Given the description of an element on the screen output the (x, y) to click on. 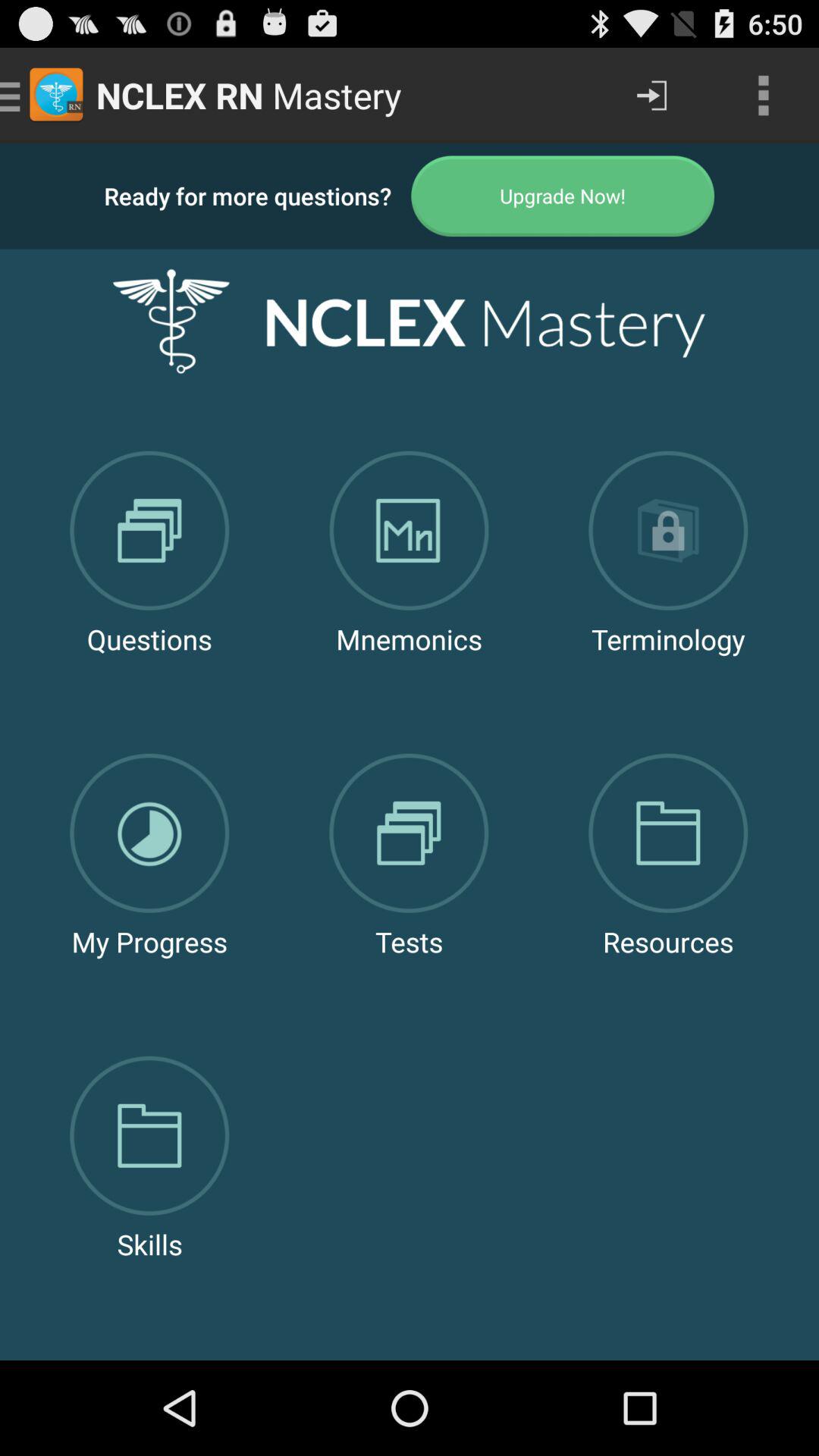
press item to the right of ready for more app (562, 195)
